Given the description of an element on the screen output the (x, y) to click on. 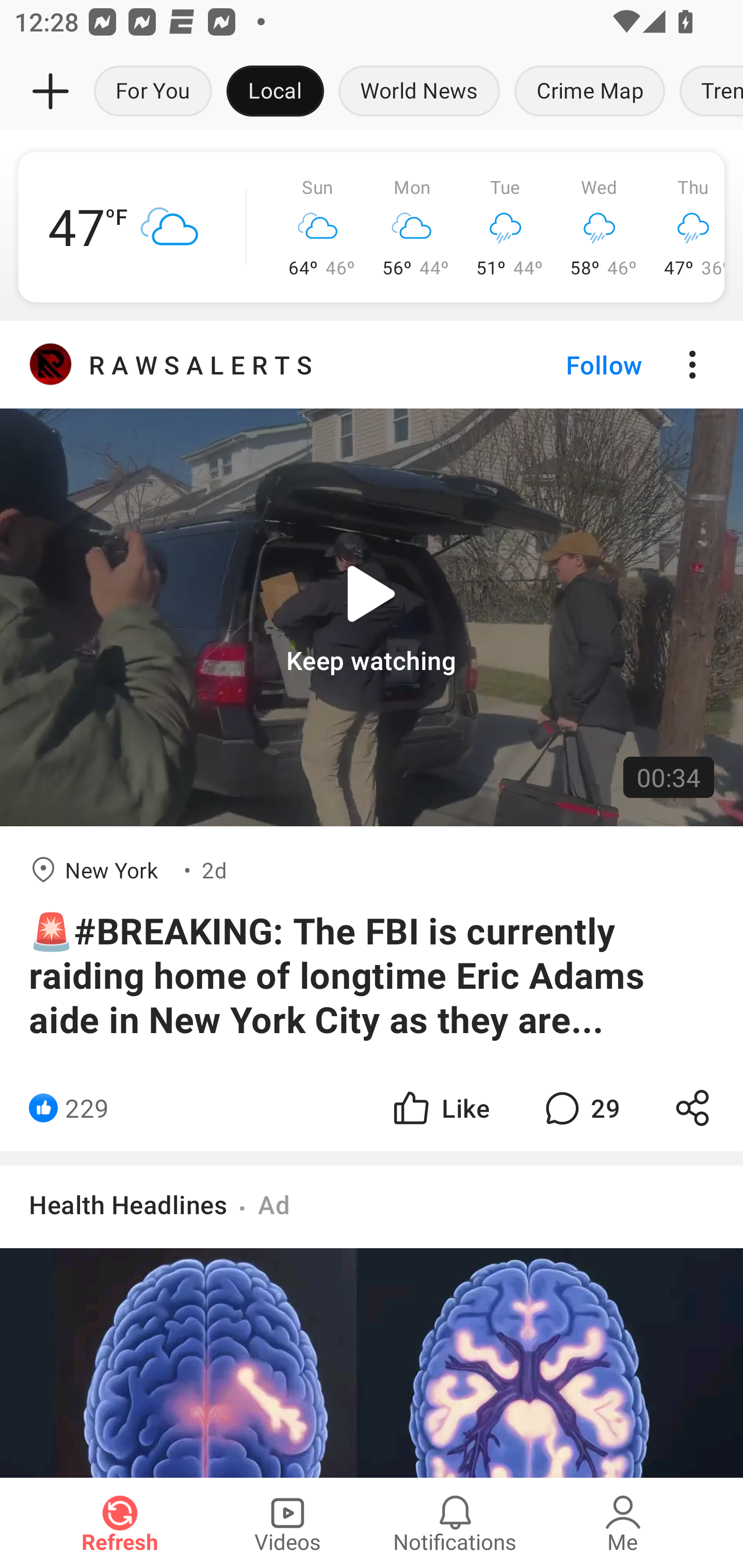
For You (152, 91)
Local (275, 91)
World News (419, 91)
Crime Map (589, 91)
Sun 64º 46º (317, 227)
Mon 56º 44º (411, 227)
Tue 51º 44º (505, 227)
Wed 58º 46º (599, 227)
Thu 47º 36º (685, 227)
R A W S A L E R T S Follow (371, 365)
Follow (569, 365)
229 (87, 1107)
Like (439, 1107)
29 (579, 1107)
Health Headlines (127, 1203)
Videos (287, 1522)
Notifications (455, 1522)
Me (622, 1522)
